Given the description of an element on the screen output the (x, y) to click on. 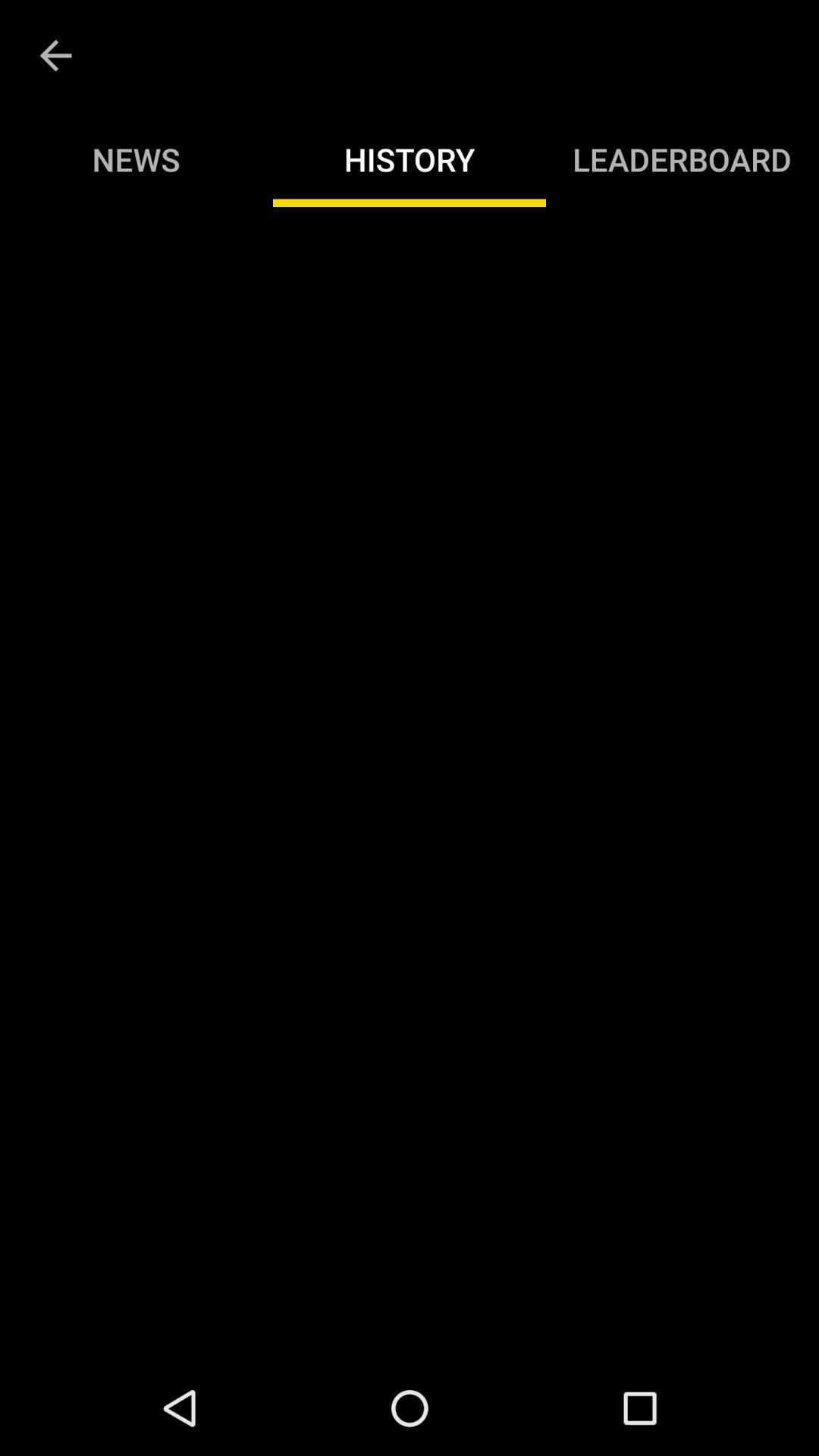
click the icon at the center (409, 783)
